Given the description of an element on the screen output the (x, y) to click on. 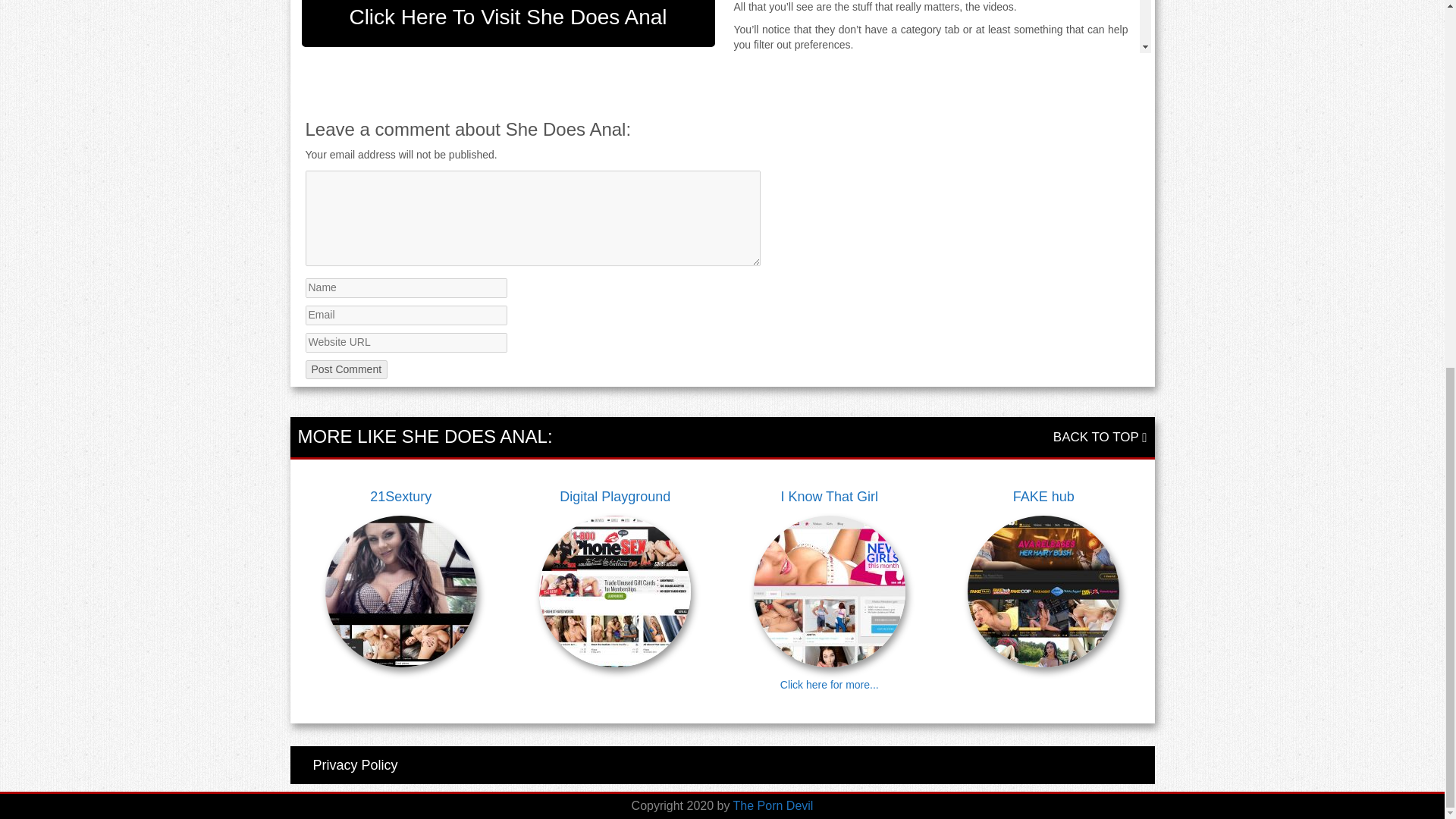
She Does Anal (834, 82)
Click Here To Visit She Does Anal (507, 23)
21Sextury (400, 497)
BACK TO TOP (1099, 436)
Post Comment (345, 369)
She Does Anal (769, 279)
She Does Anal (834, 82)
Digital Playground (615, 497)
She Does Anal (849, 317)
She Does Anal (851, 514)
She Does Anal (1032, 143)
FAKE hub (1043, 497)
Click here for more... (829, 684)
She Does Anal (769, 666)
Post Comment (345, 369)
